Given the description of an element on the screen output the (x, y) to click on. 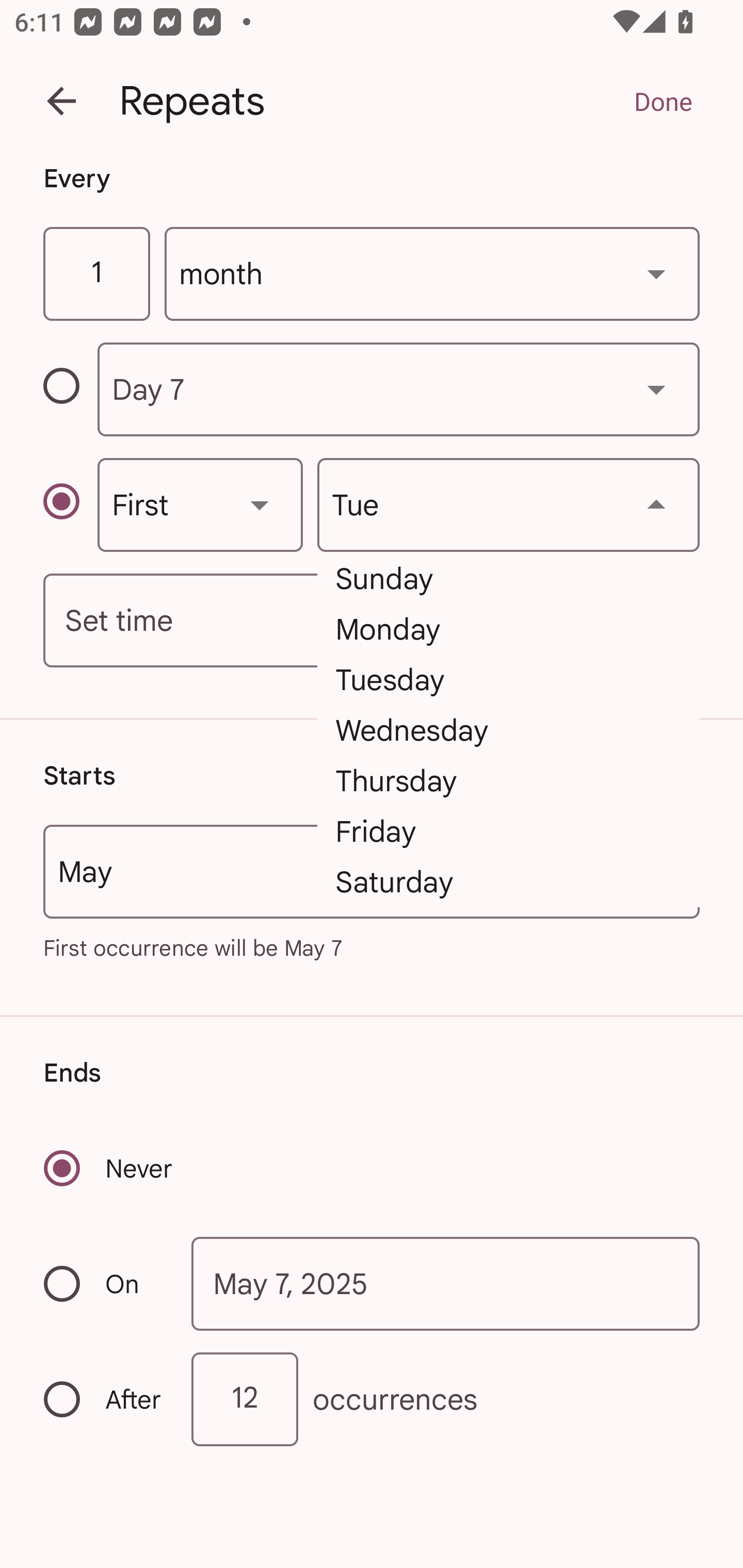
Back (61, 101)
Done (663, 101)
1 (96, 274)
month (431, 274)
Show dropdown menu (655, 273)
Day 7 (398, 388)
Show dropdown menu (655, 389)
Repeat monthly on a specific day of the month (70, 389)
First (200, 504)
Tue (508, 504)
Show dropdown menu (259, 504)
Show dropdown menu (655, 504)
Repeat monthly on a specific weekday (70, 504)
Set time (371, 620)
May (371, 871)
Never Recurrence never ends (109, 1168)
May 7, 2025 (445, 1284)
On Recurrence ends on a specific date (104, 1283)
12 (244, 1398)
